Given the description of an element on the screen output the (x, y) to click on. 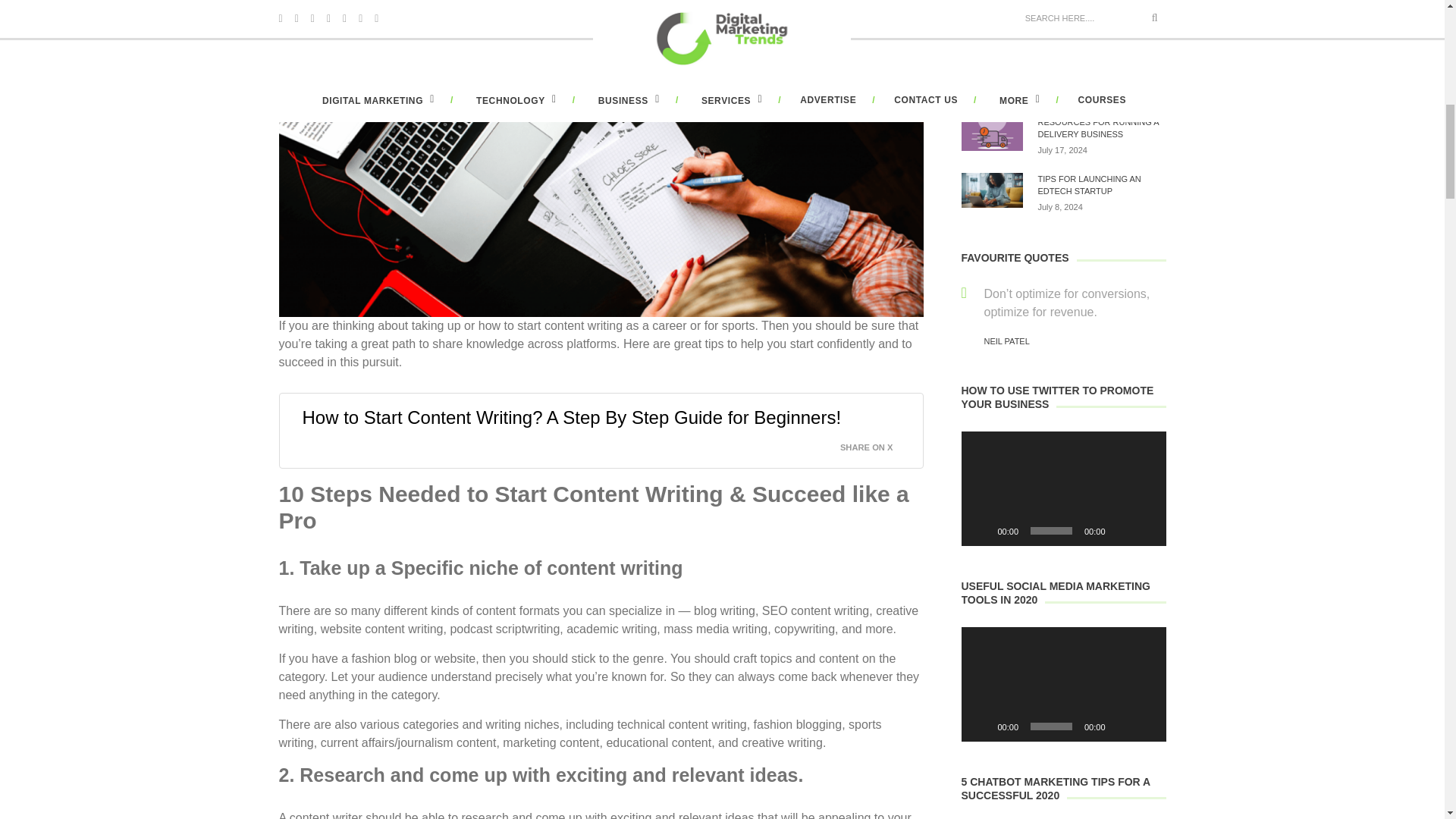
Mute (1122, 530)
Play (981, 726)
Mute (1122, 726)
Play (981, 530)
Fullscreen (1146, 726)
Fullscreen (1146, 530)
